Given the description of an element on the screen output the (x, y) to click on. 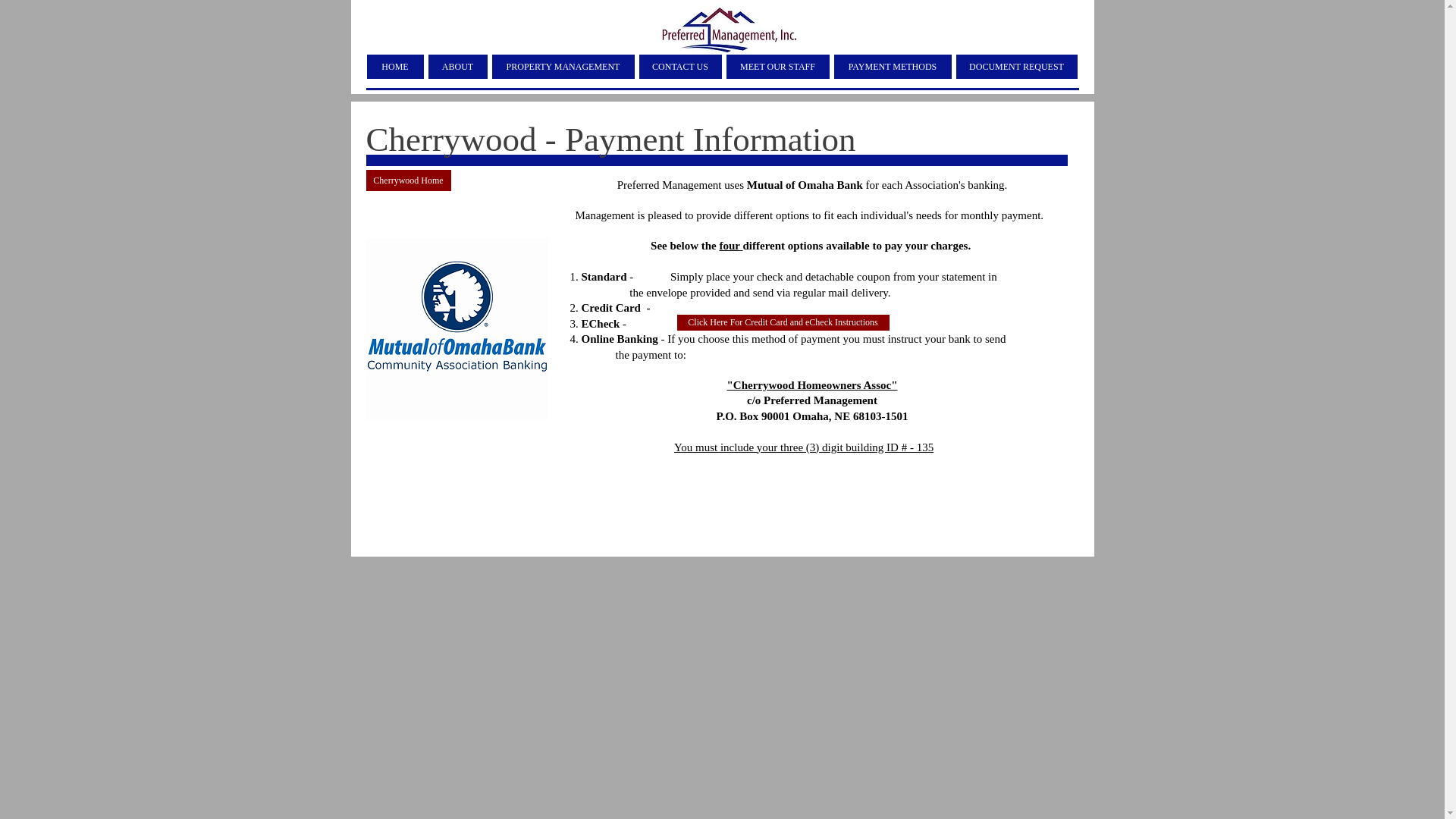
CONTACT US (679, 66)
HOME (394, 66)
PROPERTY MANAGEMENT (562, 66)
ABOUT (457, 66)
DOCUMENT REQUEST (1016, 66)
MEET OUR STAFF (777, 66)
Cherrywood Home (407, 179)
Click Here For Credit Card and eCheck Instructions (782, 322)
PAYMENT METHODS (893, 66)
